Given the description of an element on the screen output the (x, y) to click on. 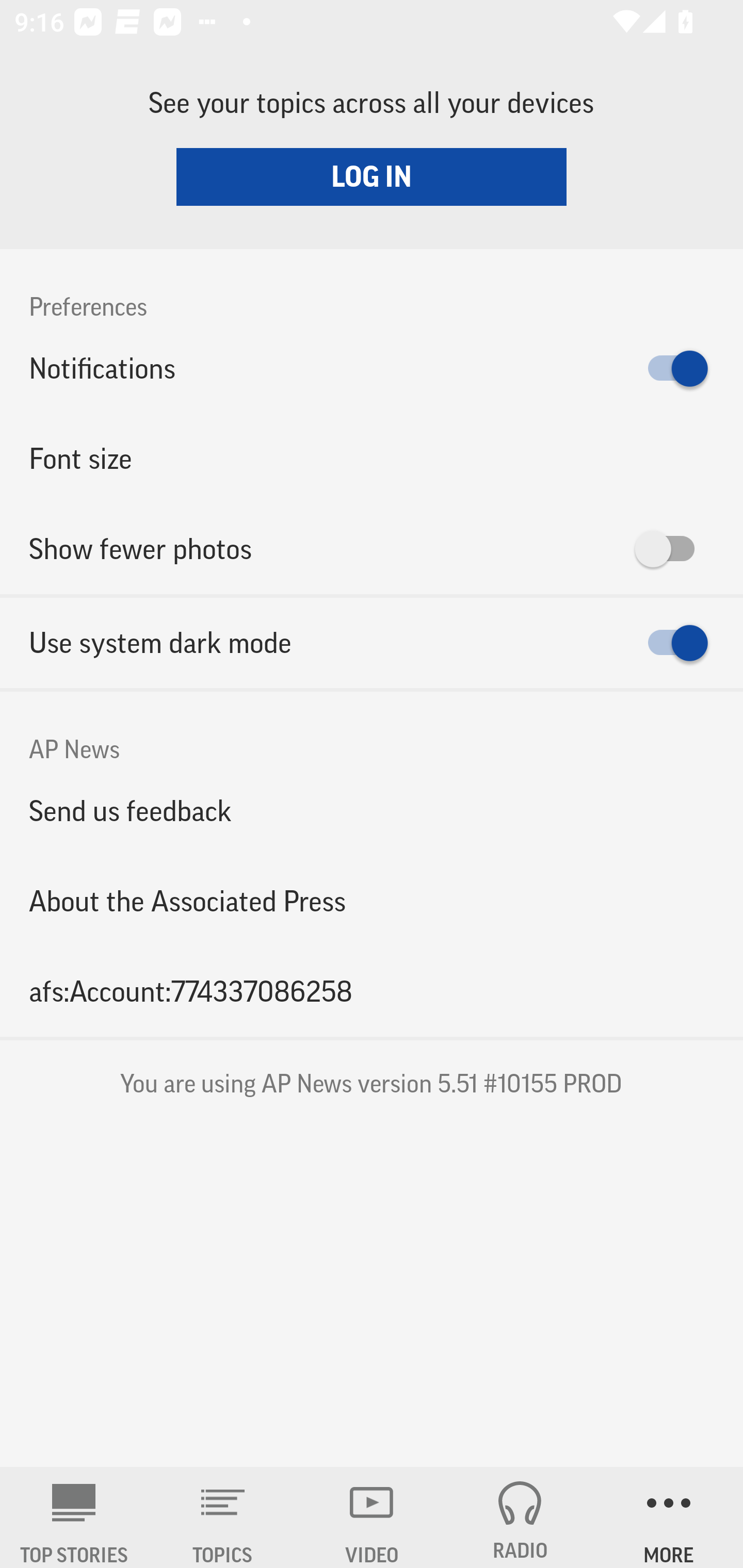
LOG IN (371, 176)
Notifications (371, 368)
Font size (371, 458)
Show fewer photos (371, 548)
Use system dark mode (371, 642)
Send us feedback (371, 810)
About the Associated Press (371, 901)
afs:Account:774337086258 (371, 991)
AP News TOP STORIES (74, 1517)
TOPICS (222, 1517)
VIDEO (371, 1517)
RADIO (519, 1517)
MORE (668, 1517)
